Given the description of an element on the screen output the (x, y) to click on. 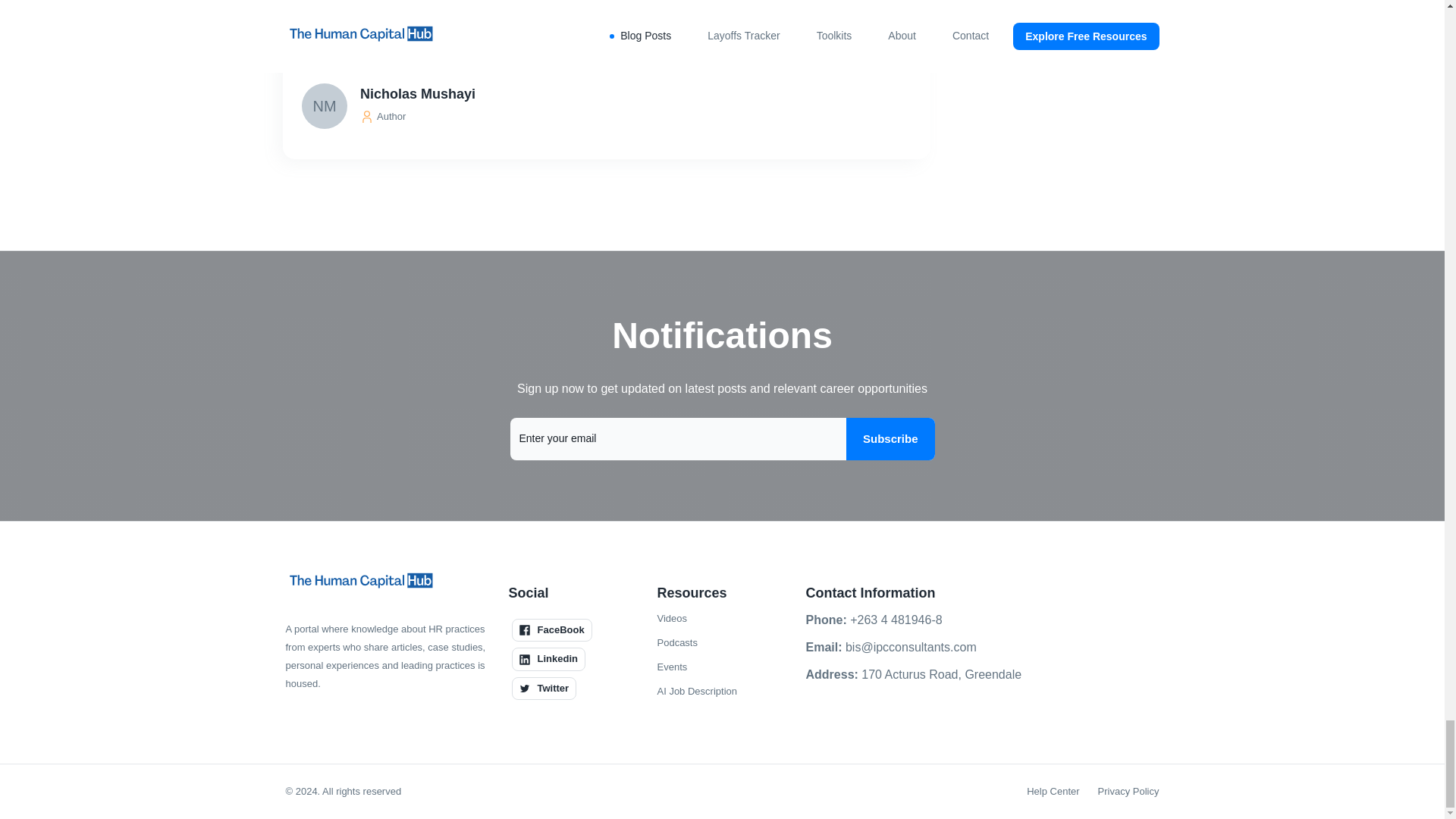
Help Center (1052, 791)
Linkedin (548, 658)
Podcasts (676, 642)
AI Job Description (696, 691)
Videos (671, 618)
Privacy Policy (1127, 791)
FaceBook (551, 630)
Nicholas Mushayi (608, 93)
Events (671, 667)
Twitter (543, 688)
